Given the description of an element on the screen output the (x, y) to click on. 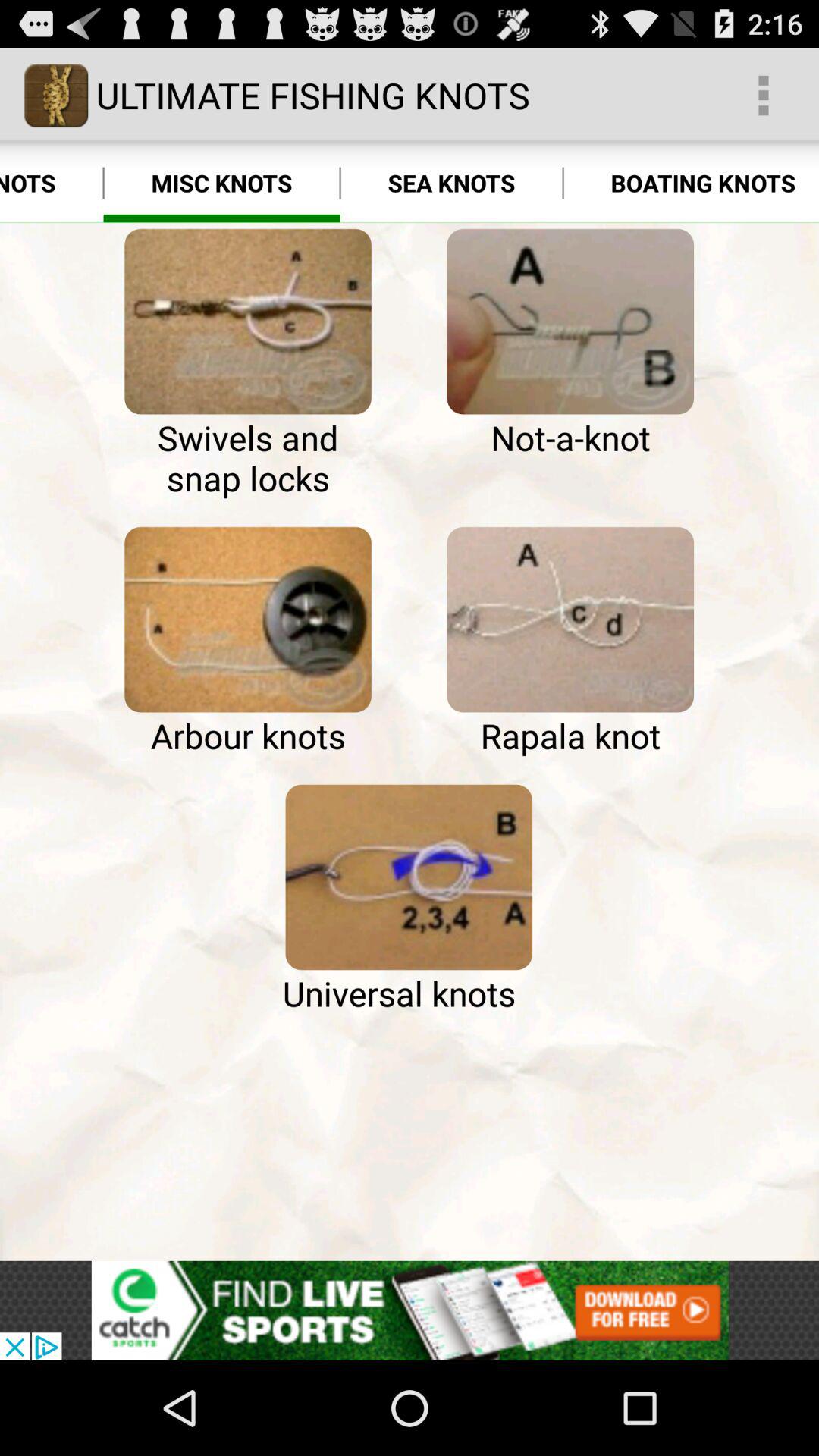
launch the hook knots app (51, 182)
